Given the description of an element on the screen output the (x, y) to click on. 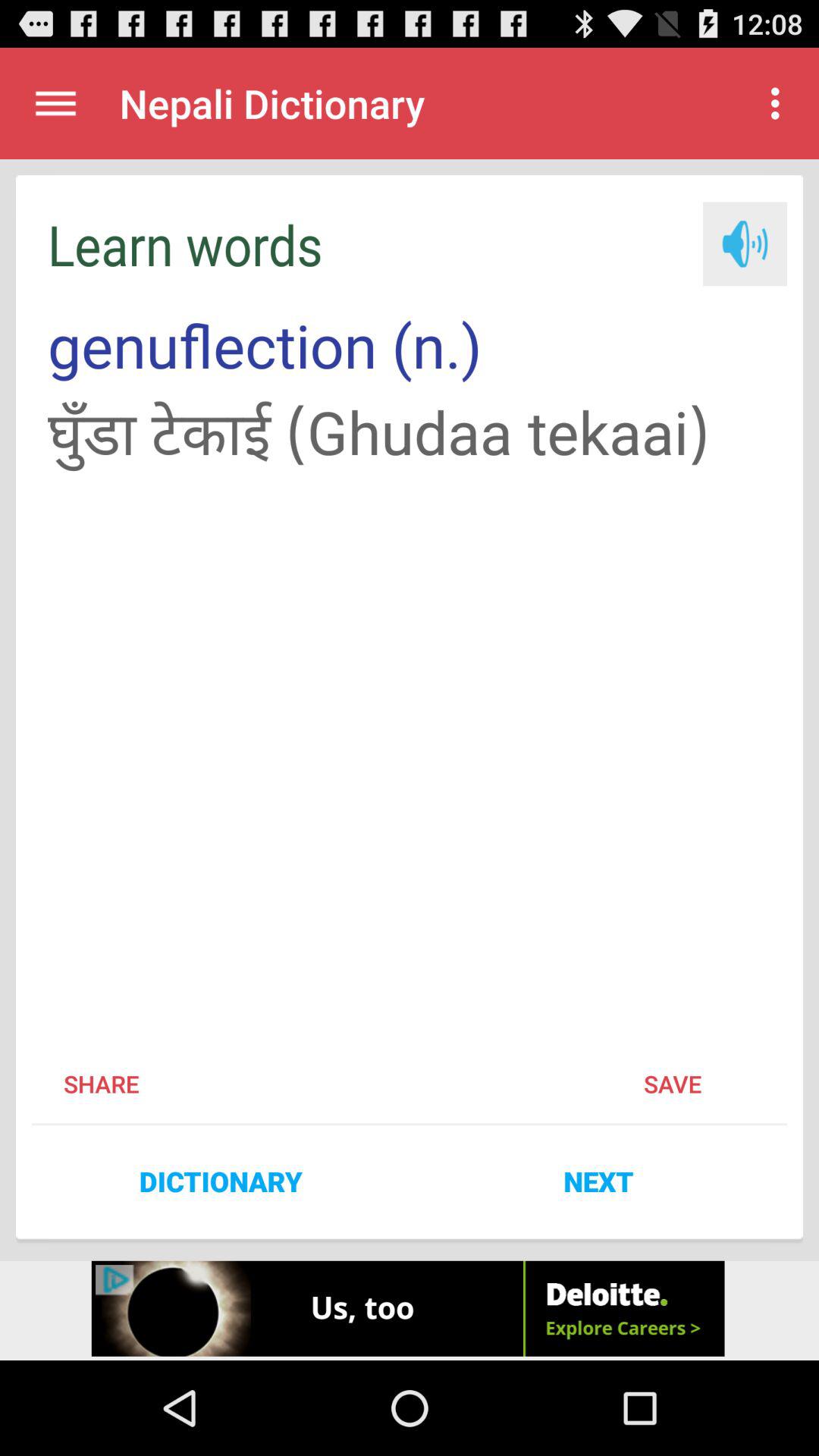
click on advertisements (409, 1310)
